Given the description of an element on the screen output the (x, y) to click on. 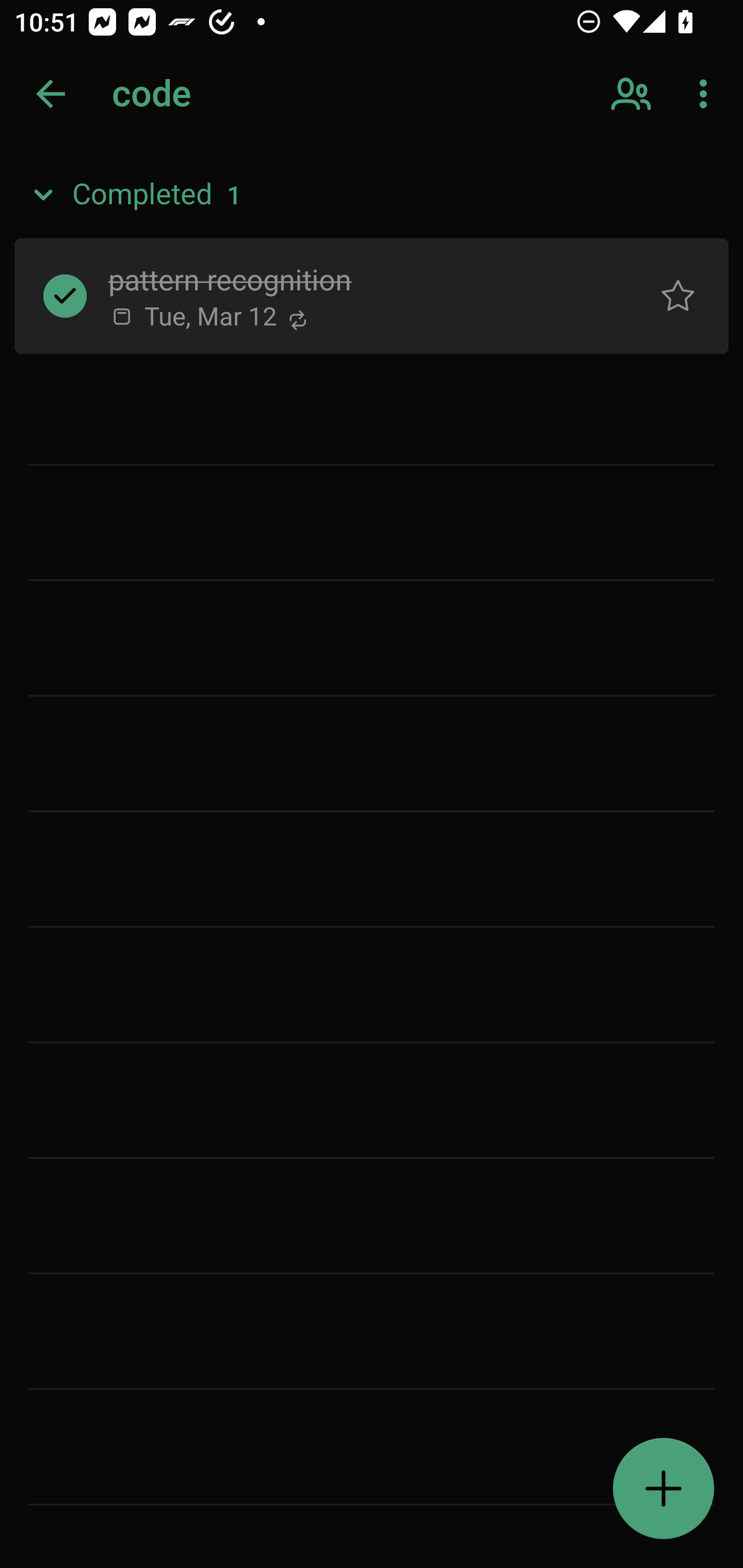
Back (50, 93)
testappium002@outlook.com Enter search (185, 93)
Sharing options (632, 93)
More options (706, 93)
Completed, 1 item, Expanded Completed 1 (371, 195)
Completed task pattern recognition, Button (64, 295)
Normal task pattern recognition, Button (677, 295)
Add a task (663, 1488)
